Given the description of an element on the screen output the (x, y) to click on. 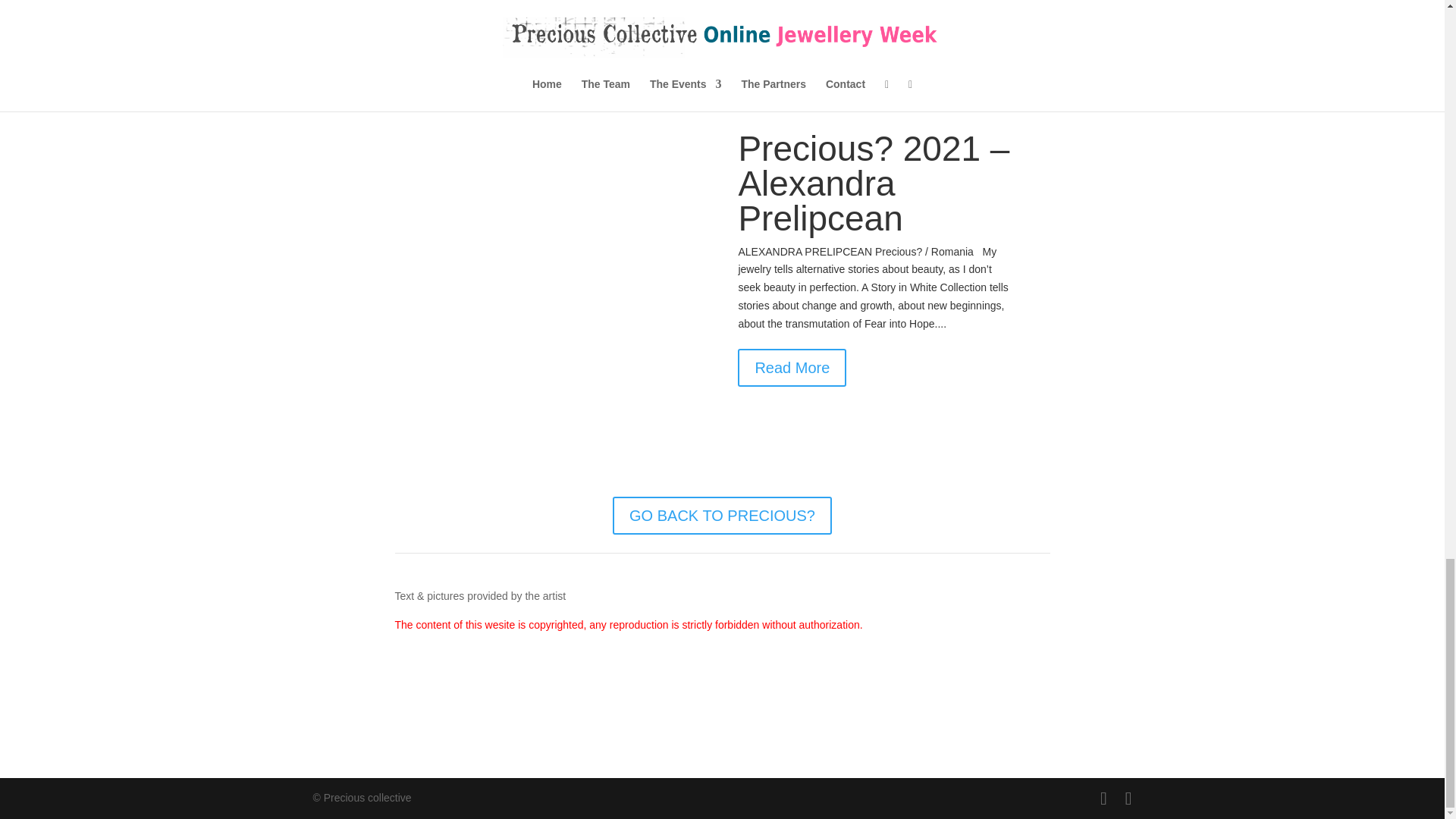
Read More (791, 367)
